Given the description of an element on the screen output the (x, y) to click on. 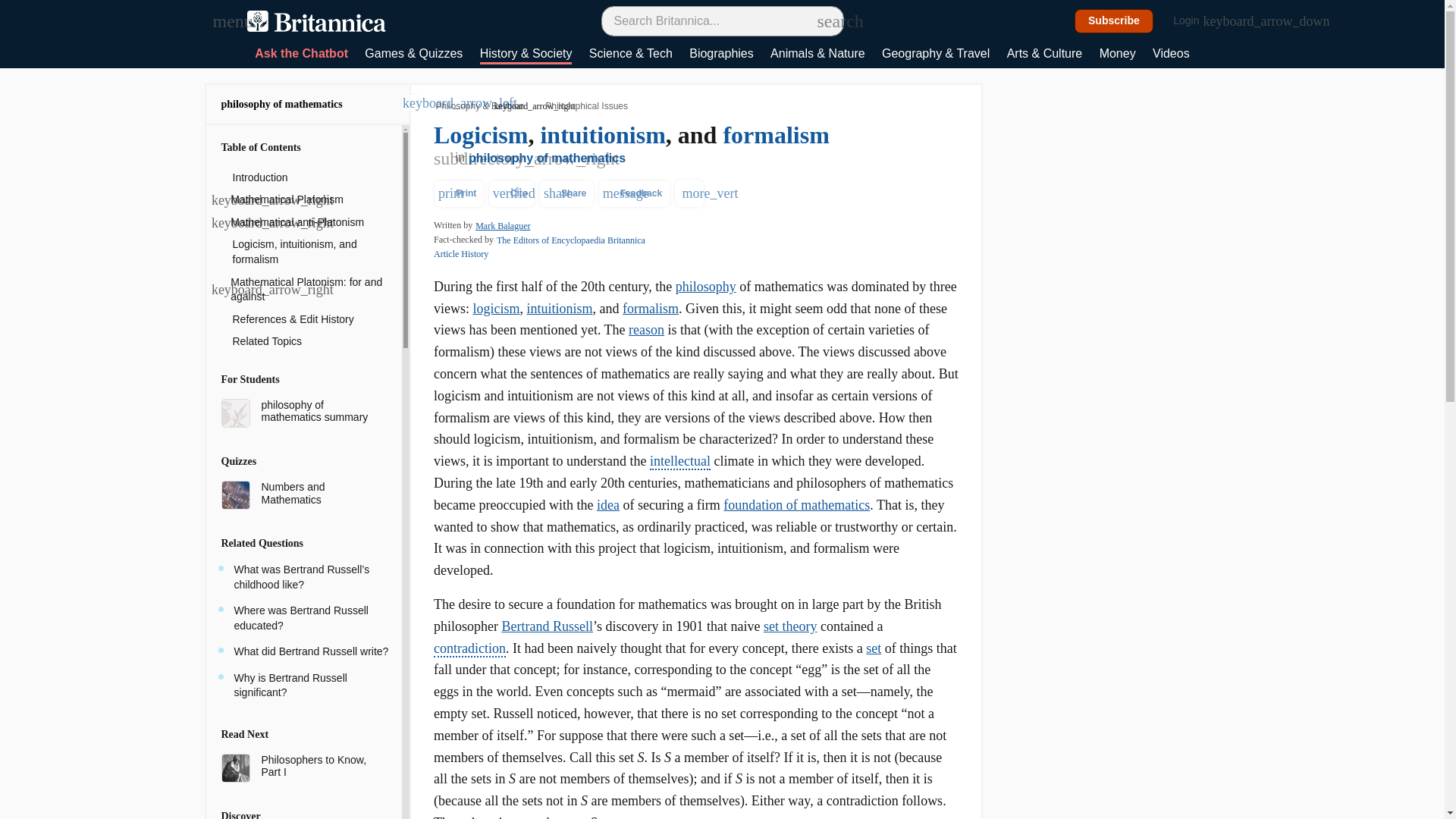
Subscribe (1114, 21)
Login (1194, 20)
Click here to search (825, 20)
